Given the description of an element on the screen output the (x, y) to click on. 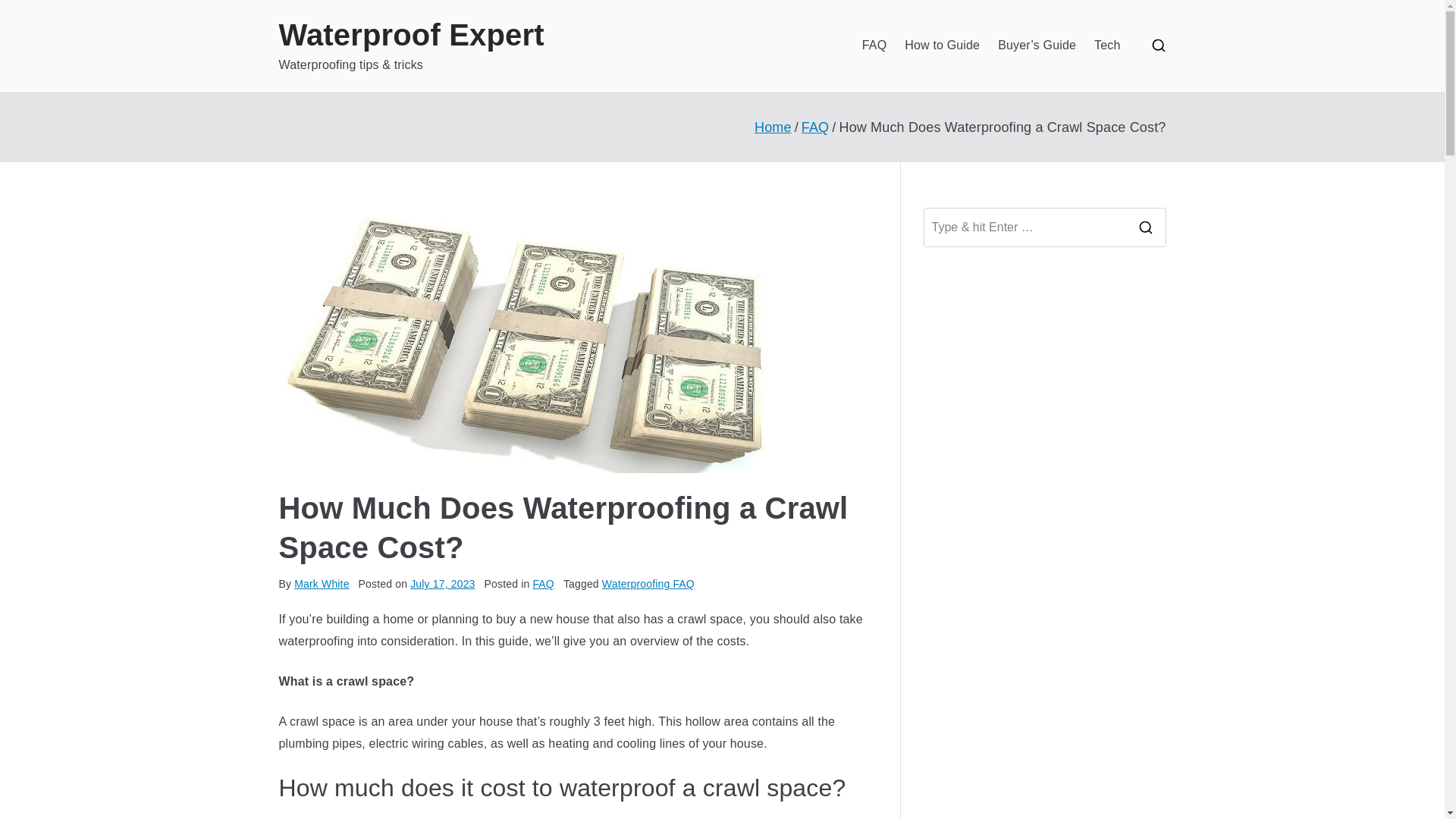
FAQ (873, 45)
Mark White (321, 583)
Tech (1106, 45)
Waterproof Expert (411, 34)
Search for: (1024, 227)
FAQ (543, 583)
Home (773, 127)
Search (26, 18)
July 17, 2023 (442, 583)
FAQ (815, 127)
